Given the description of an element on the screen output the (x, y) to click on. 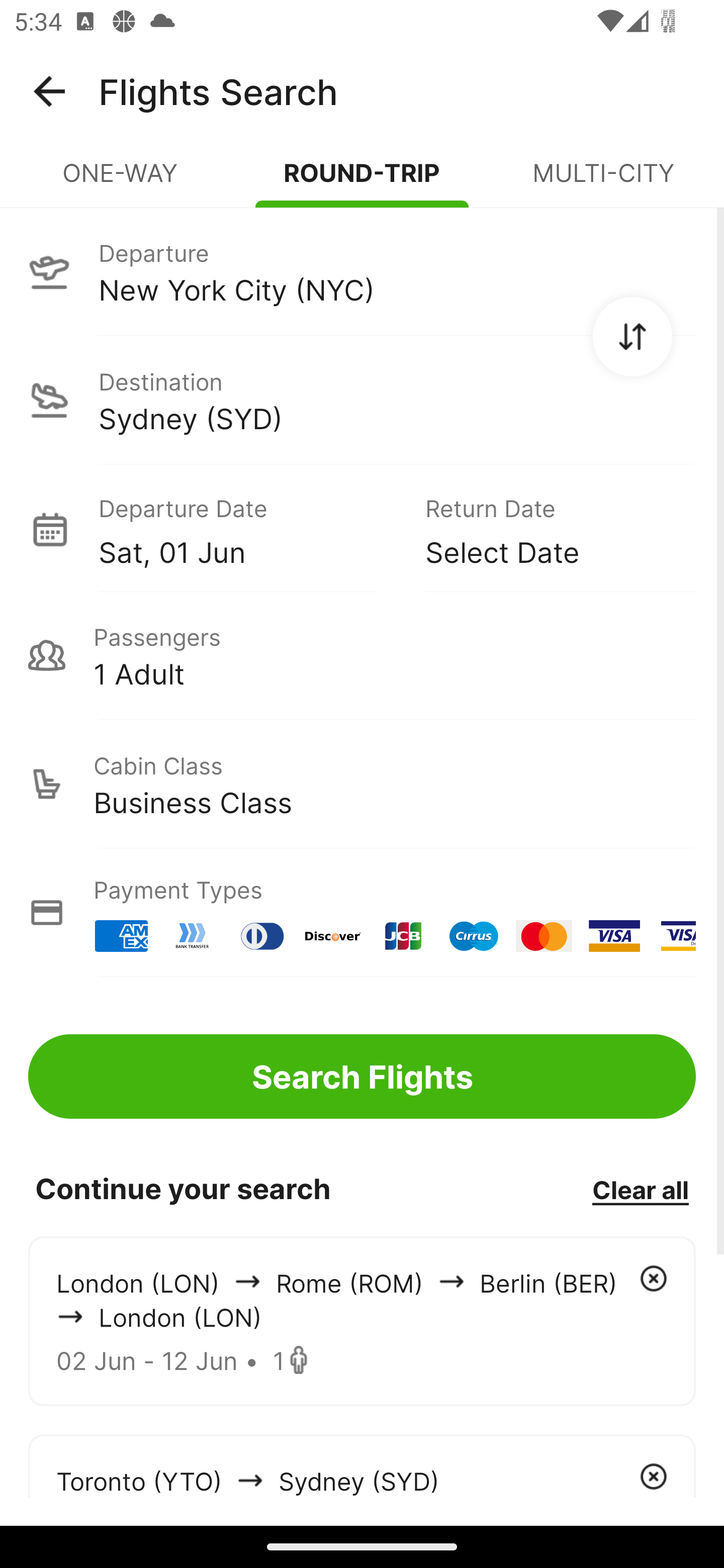
ONE-WAY (120, 180)
ROUND-TRIP (361, 180)
MULTI-CITY (603, 180)
Departure New York City (NYC) (362, 270)
Destination Sydney (SYD) (362, 400)
Departure Date Sat, 01 Jun (247, 528)
Return Date Select Date (546, 528)
Passengers 1 Adult (362, 655)
Cabin Class Business Class (362, 783)
Payment Types (362, 912)
Search Flights (361, 1075)
Clear all (640, 1189)
Toronto (YTO)  arrowIcon  Sydney (SYD) (361, 1465)
